Given the description of an element on the screen output the (x, y) to click on. 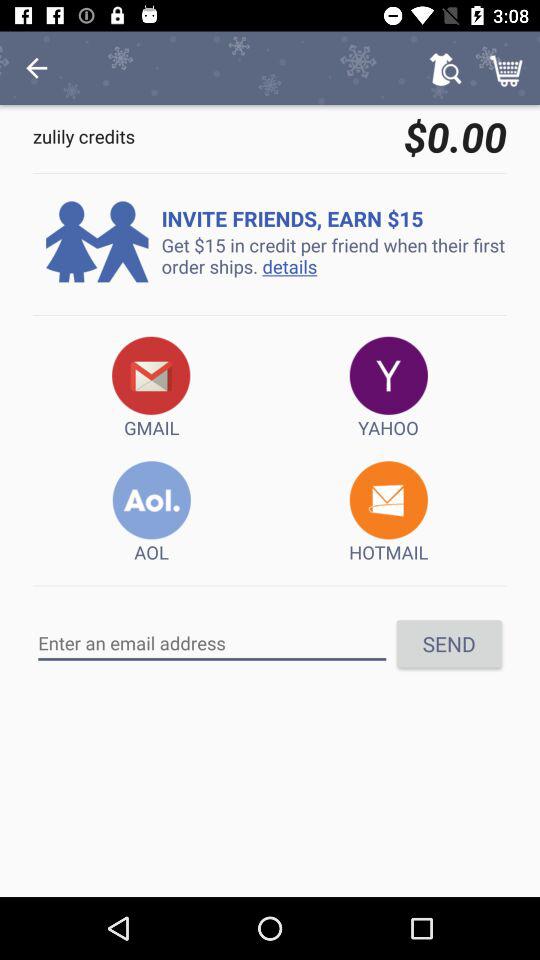
enter the email address here (212, 643)
